Given the description of an element on the screen output the (x, y) to click on. 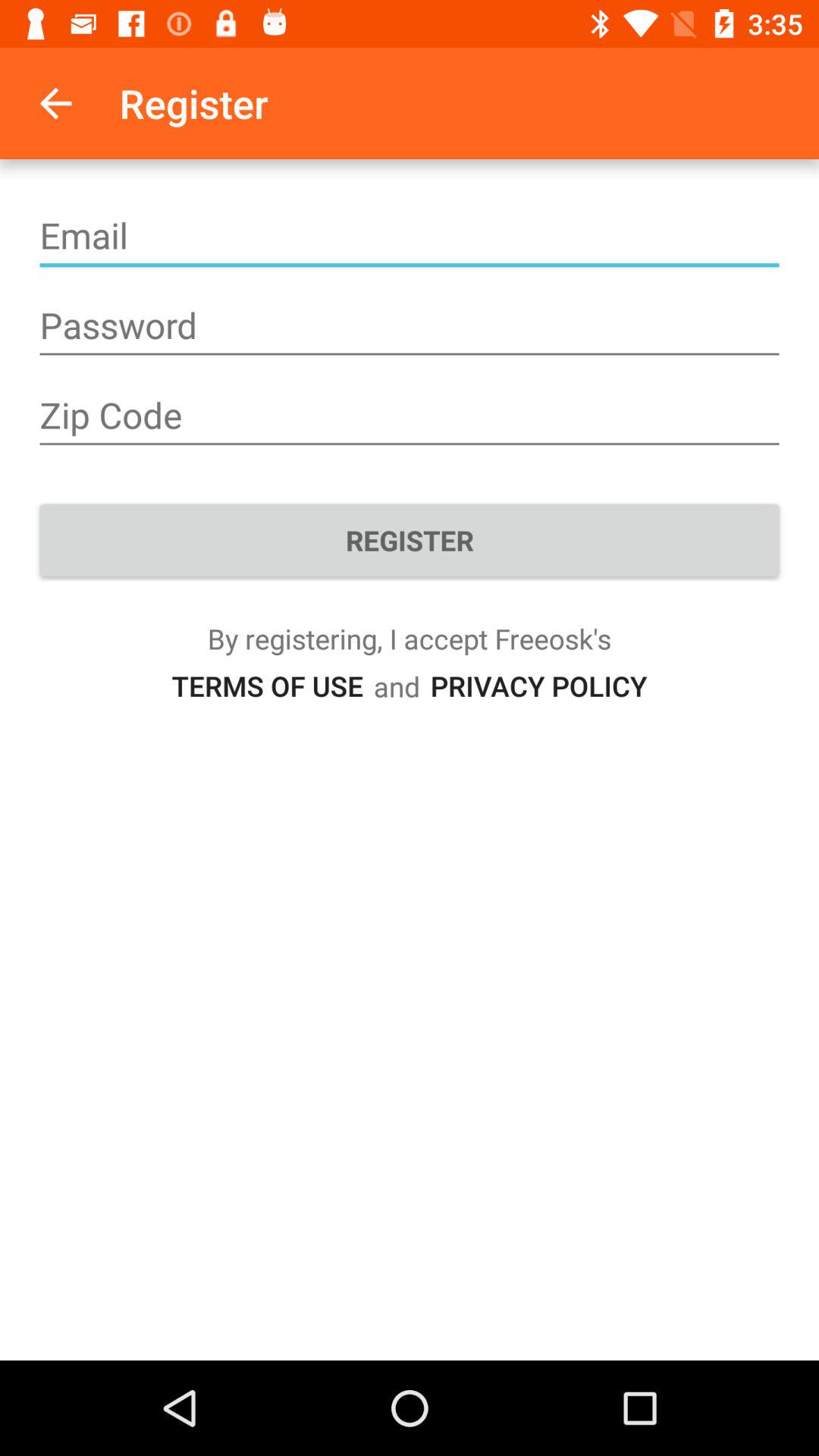
choose item next to the and (267, 685)
